Given the description of an element on the screen output the (x, y) to click on. 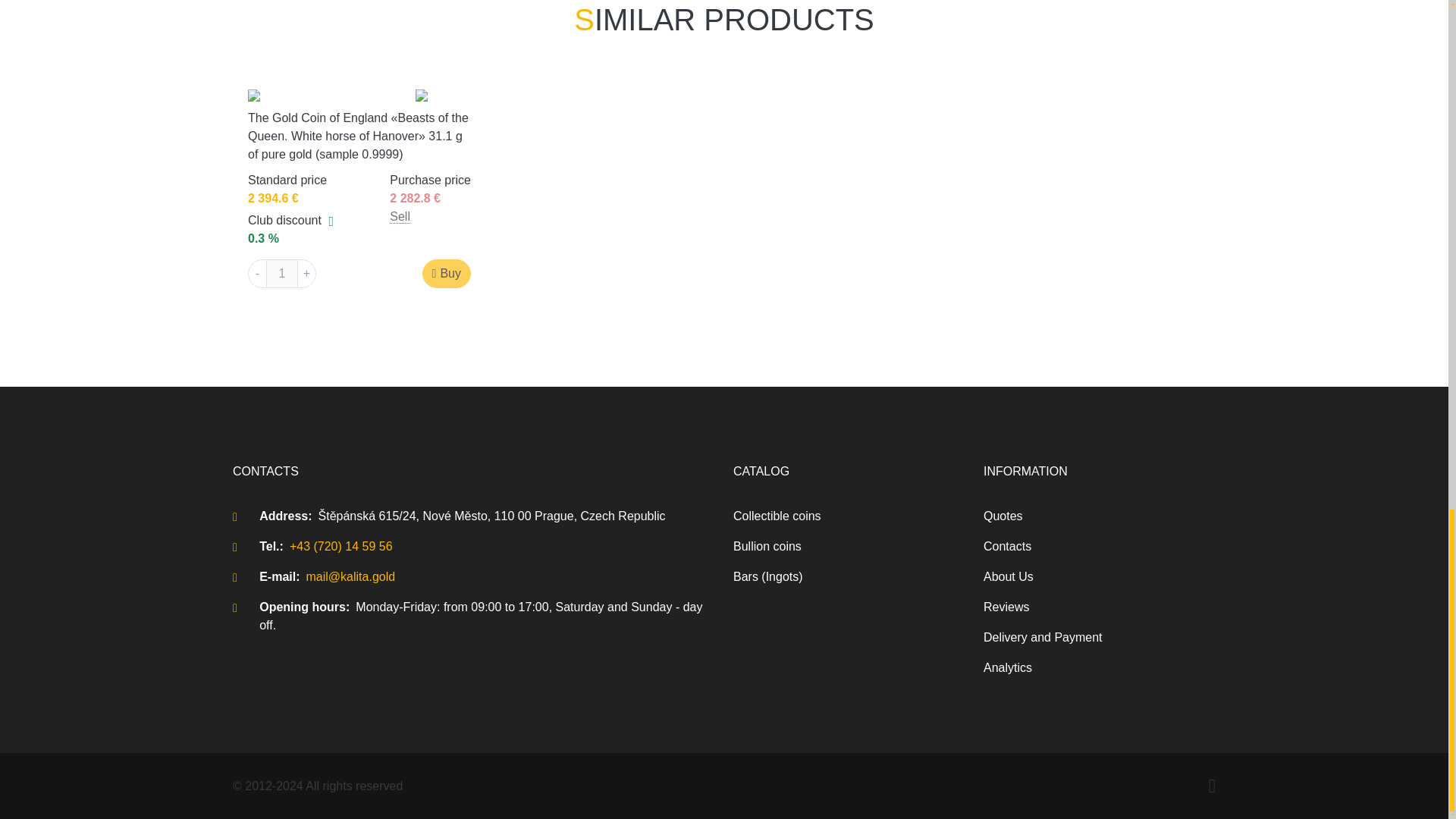
1 (281, 273)
